Given the description of an element on the screen output the (x, y) to click on. 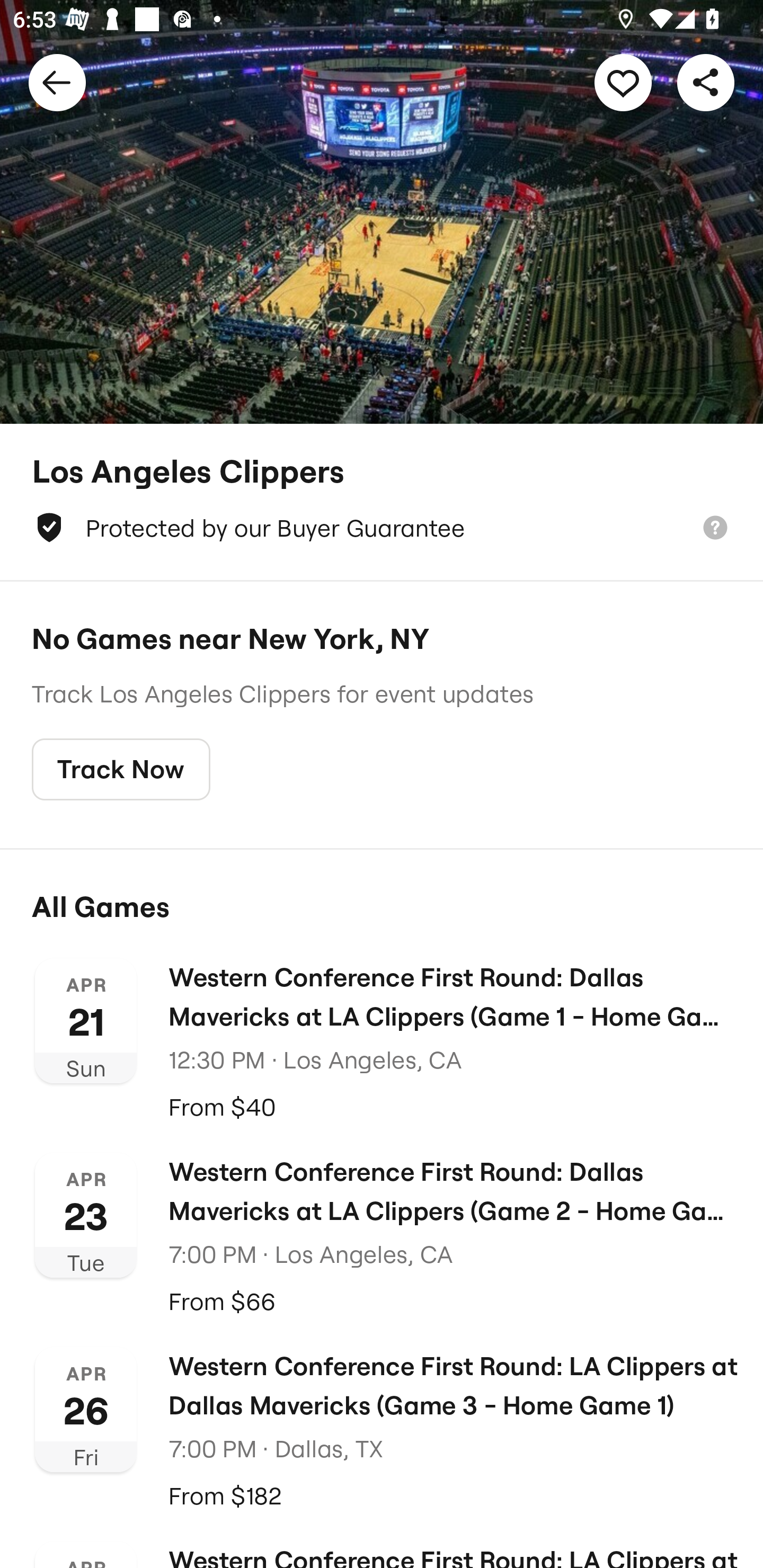
Back (57, 81)
Track this performer (623, 81)
Share this performer (705, 81)
Protected by our Buyer Guarantee Learn more (381, 527)
Track Now (121, 769)
